Given the description of an element on the screen output the (x, y) to click on. 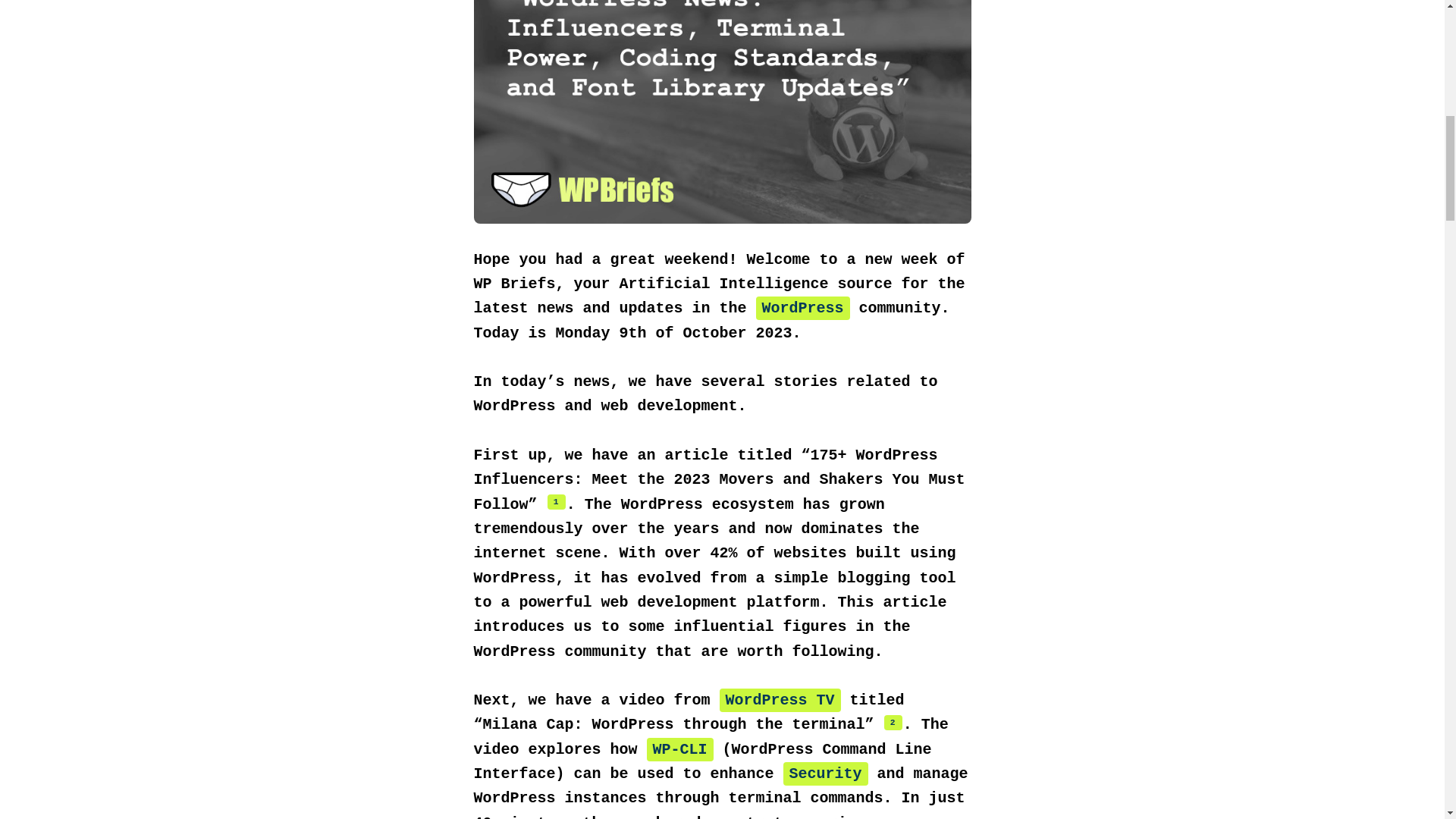
WordPress (802, 308)
2 (892, 722)
Security (825, 773)
WP-CLI (679, 749)
1 (556, 501)
WordPress TV (780, 699)
